Given the description of an element on the screen output the (x, y) to click on. 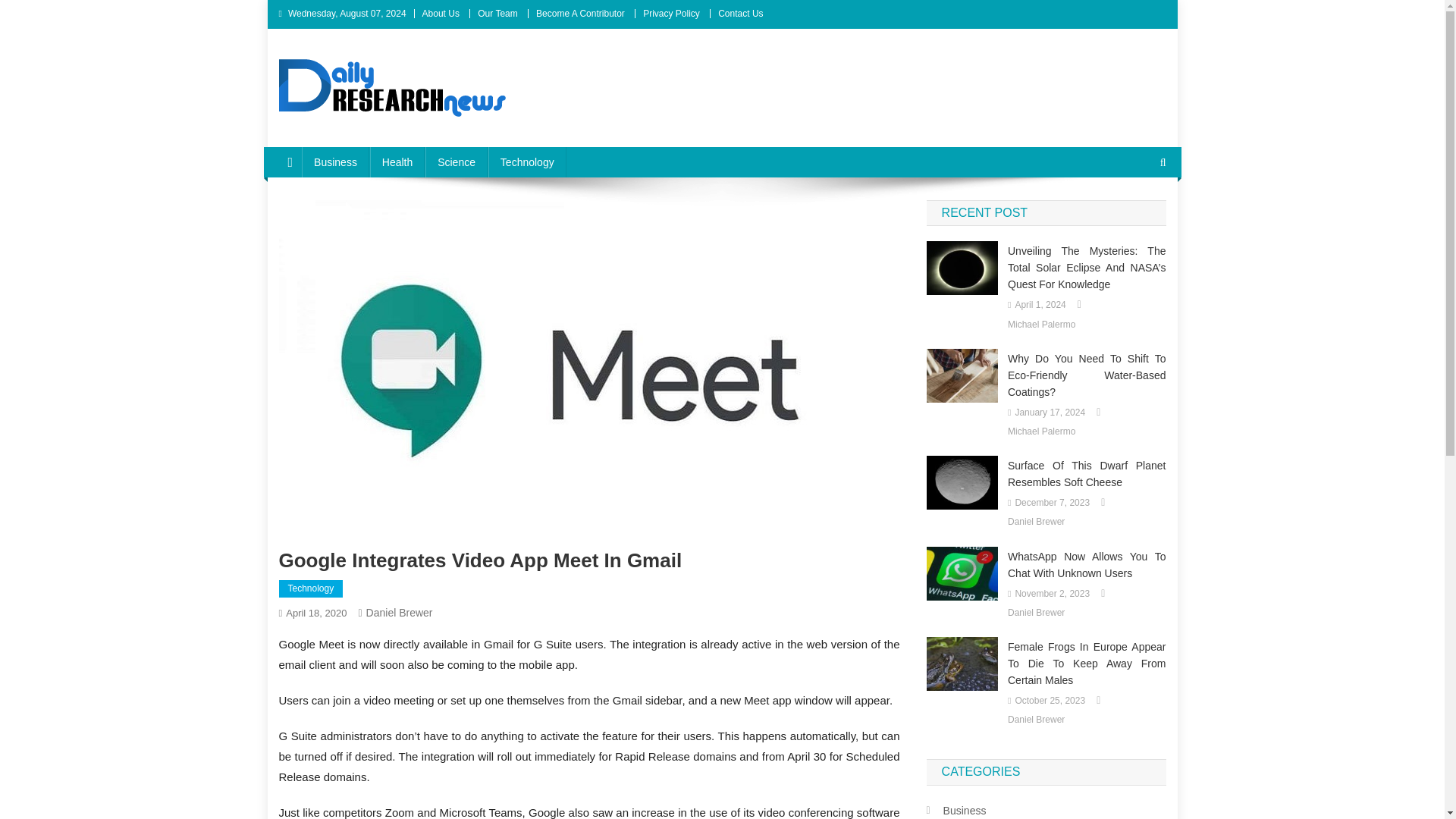
Business (335, 162)
Become A Contributor (579, 13)
Technology (311, 588)
Science (456, 162)
Daily Research News (400, 131)
Daniel Brewer (399, 612)
Michael Palermo (1041, 432)
Our Team (496, 13)
January 17, 2024 (1049, 412)
April 1, 2024 (1039, 305)
